Given the description of an element on the screen output the (x, y) to click on. 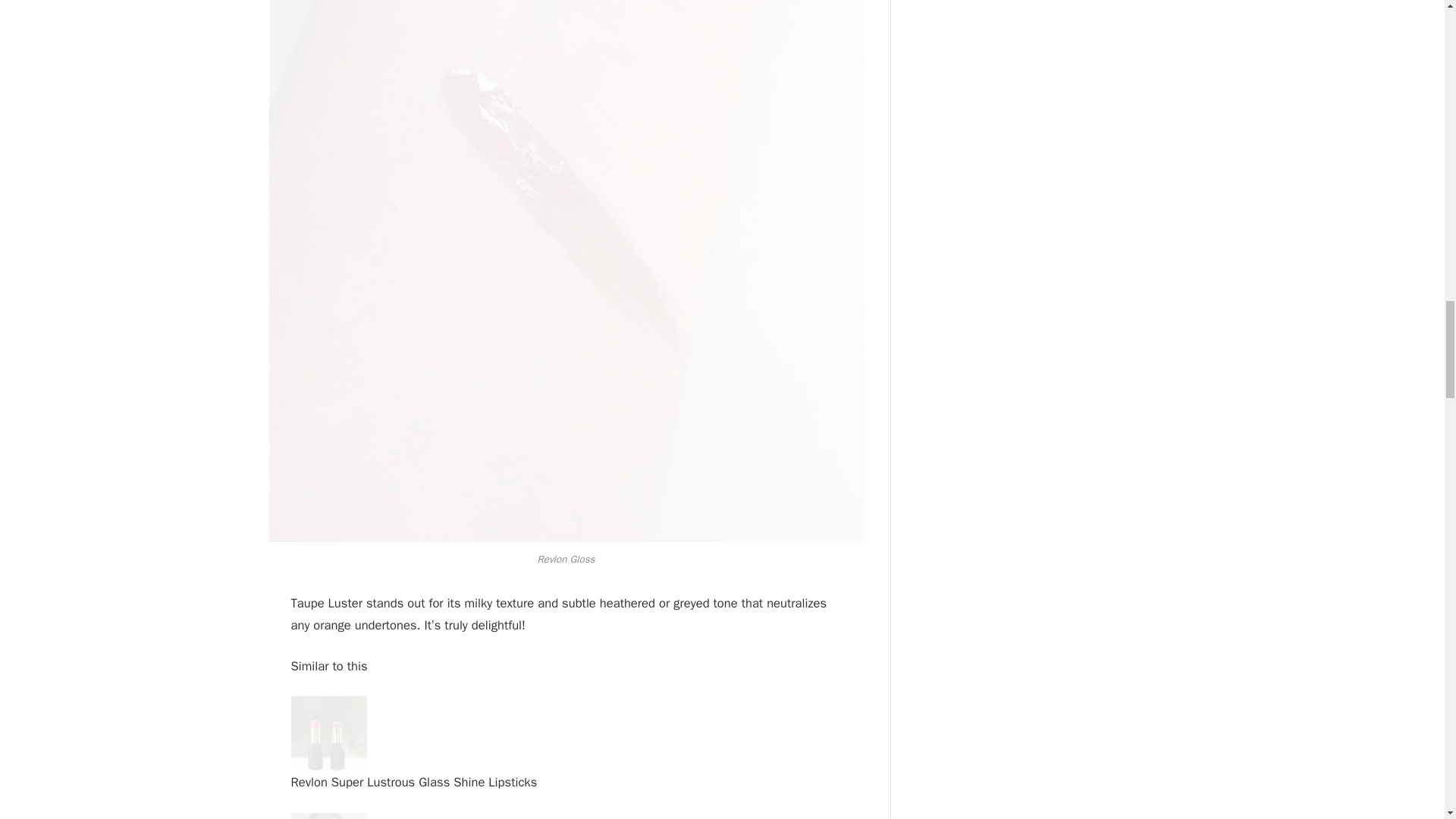
Revlon Super Lustrous Glass Shine Lipsticks (328, 734)
